Given the description of an element on the screen output the (x, y) to click on. 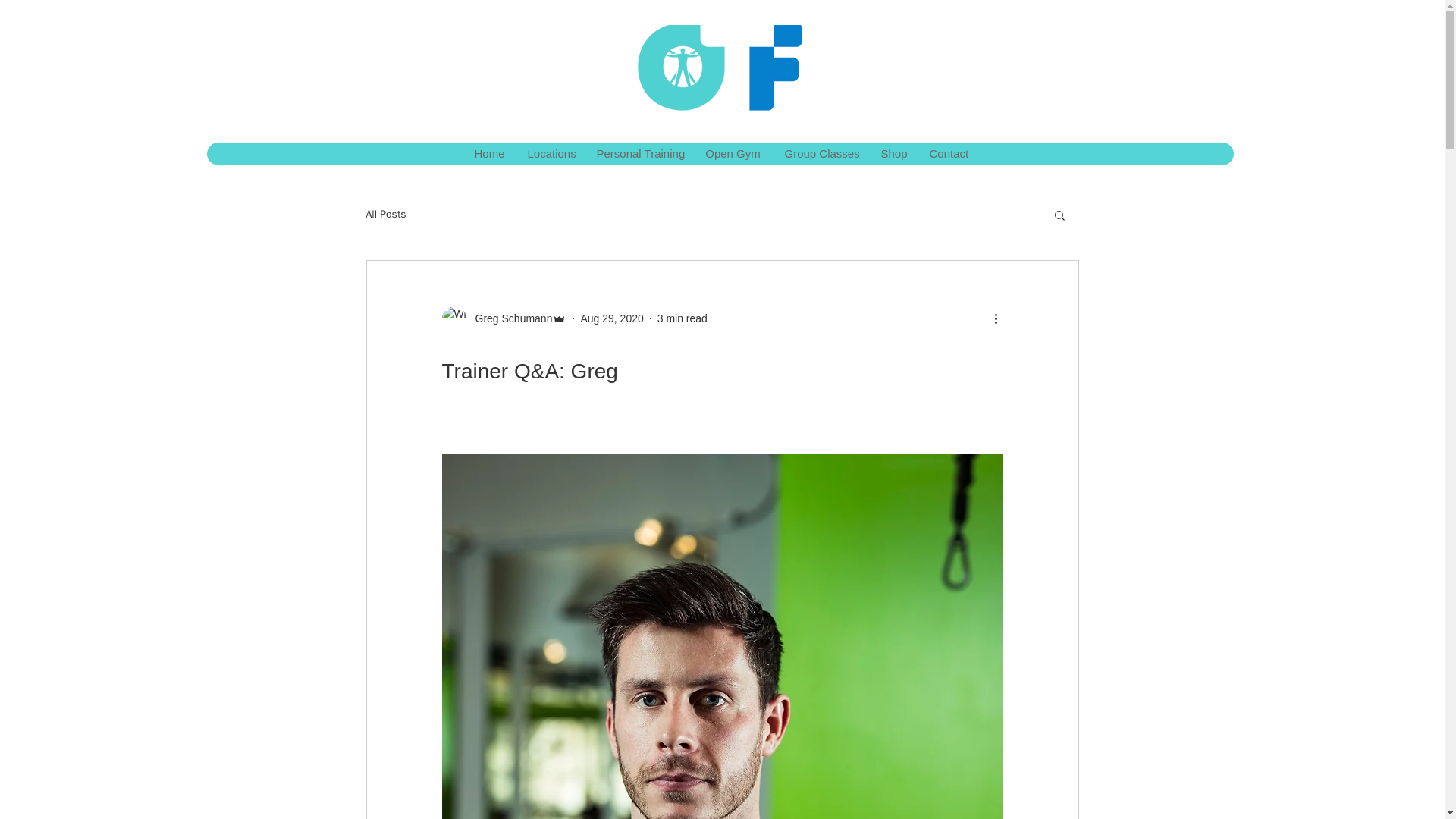
Locations (549, 153)
Open Gym (732, 153)
Group Classes (819, 153)
Greg Schumann (503, 318)
Contact (947, 153)
Shop (892, 153)
Aug 29, 2020 (611, 318)
3 min read (682, 318)
Home (488, 153)
Personal Training (638, 153)
